Given the description of an element on the screen output the (x, y) to click on. 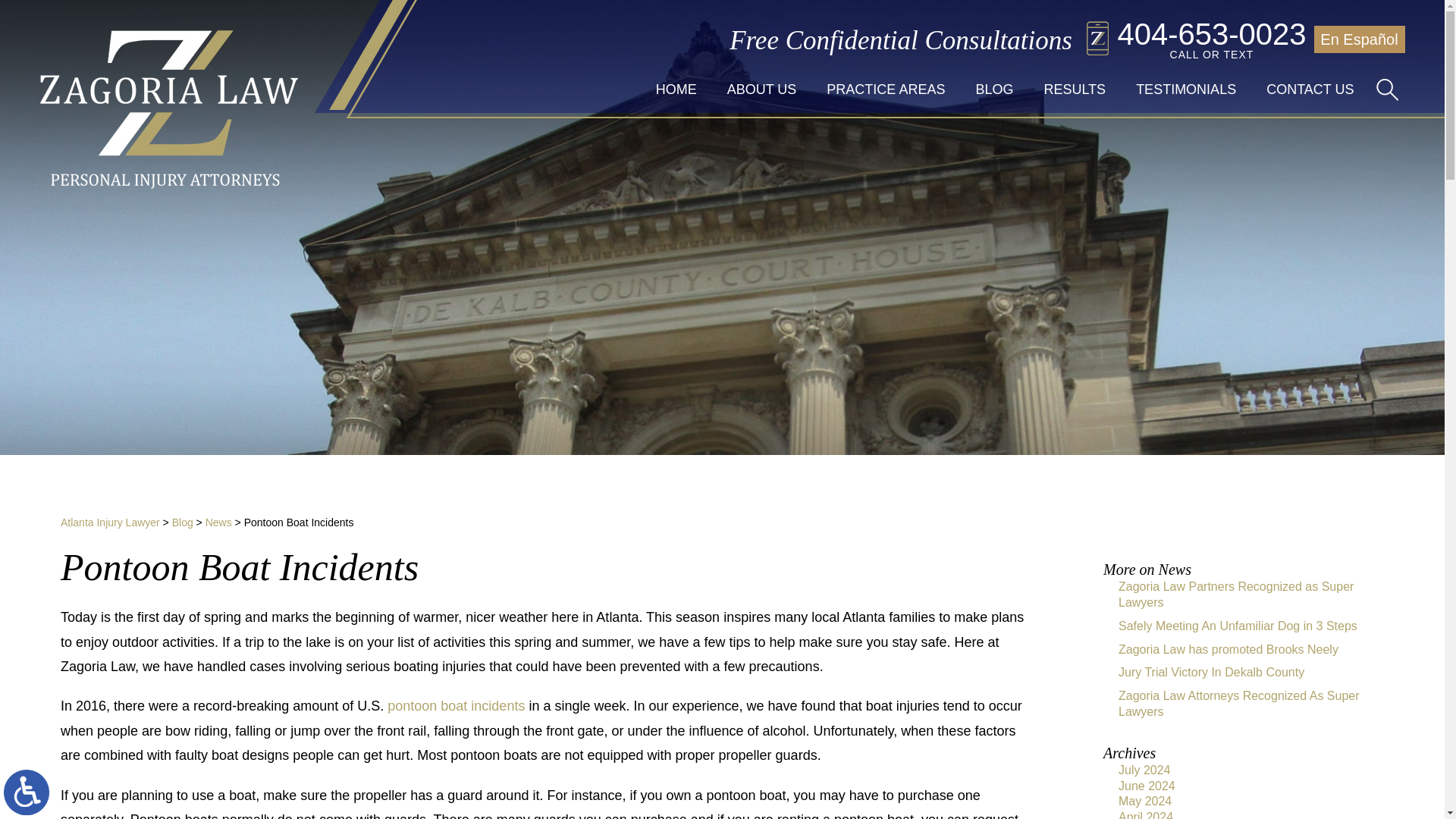
RESULTS (1074, 89)
HOME (675, 89)
TESTIMONIALS (1185, 89)
BLOG (993, 89)
Switch to ADA Accessible Theme (26, 791)
PRACTICE AREAS (1196, 38)
ABOUT US (884, 89)
